Given the description of an element on the screen output the (x, y) to click on. 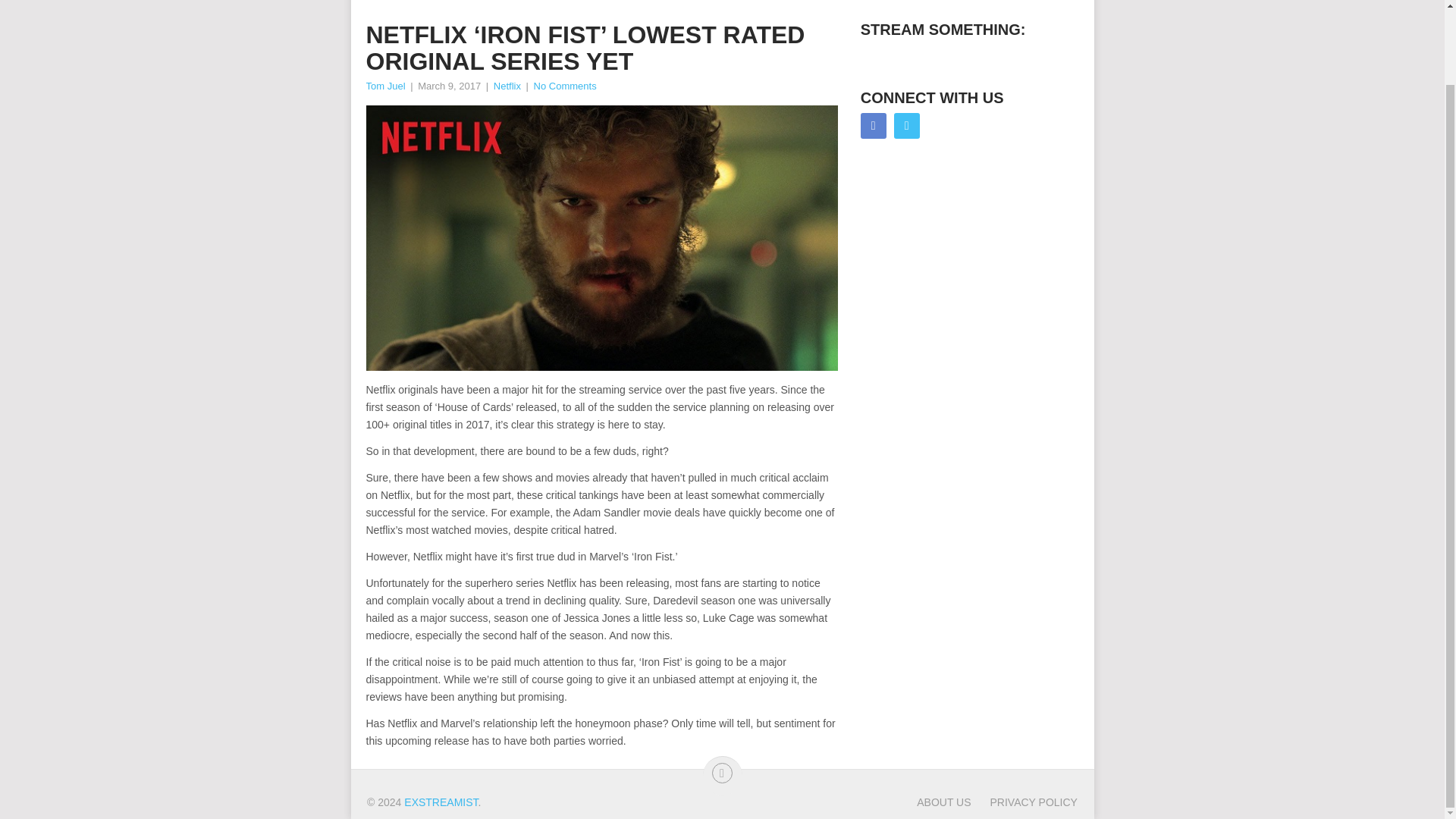
Twitter (906, 125)
Posts by Tom Juel (384, 85)
Facebook (873, 125)
